Given the description of an element on the screen output the (x, y) to click on. 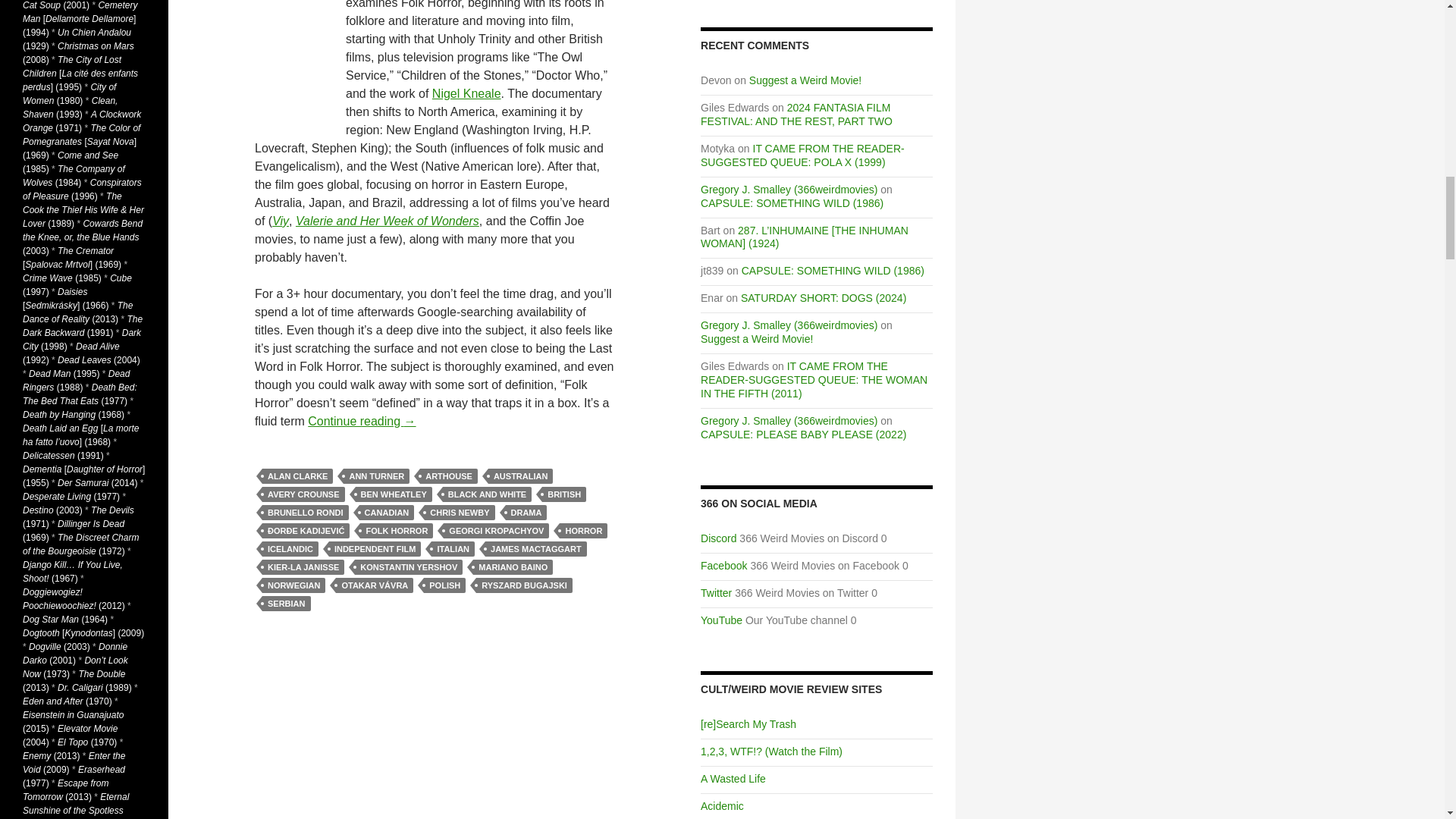
Nigel Kneale (466, 92)
Viy (280, 220)
Our YouTube channel (721, 620)
366 Weird Movies on Twitter (716, 592)
AUSTRALIAN (520, 476)
366 Weird Movies on Discord (718, 538)
A blog about obscure, trashy, fun, bad and fabulous films.  (732, 778)
ANN TURNER (376, 476)
366 Weird Movies on Facebook (723, 565)
Valerie and Her Week of Wonders certified weird entry (387, 220)
Valerie and Her Week of Wonders (387, 220)
ALAN CLARKE (297, 476)
ARTHOUSE (448, 476)
